Given the description of an element on the screen output the (x, y) to click on. 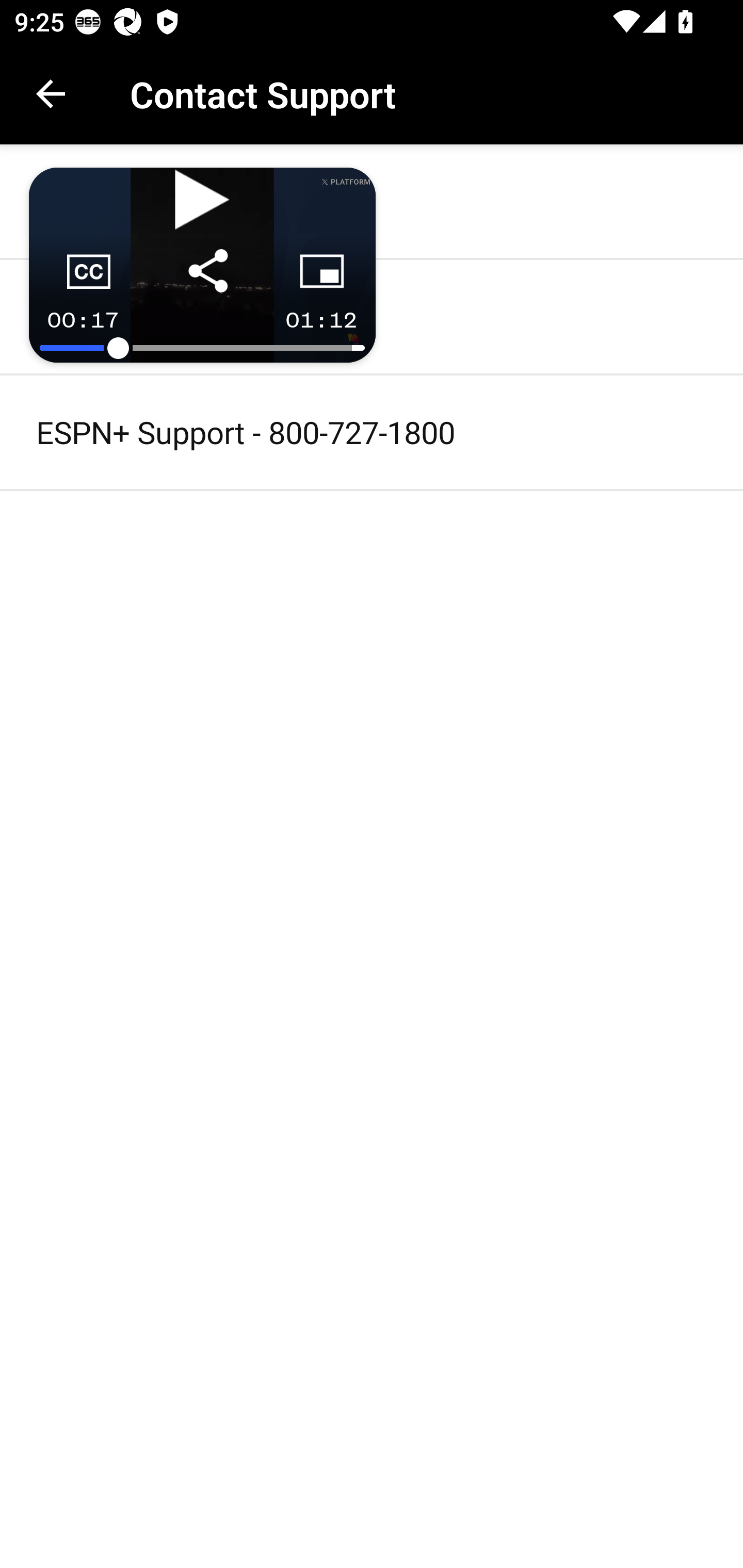
back.button (50, 93)
ESPN+ Support - 800-727-1800 (371, 431)
